Given the description of an element on the screen output the (x, y) to click on. 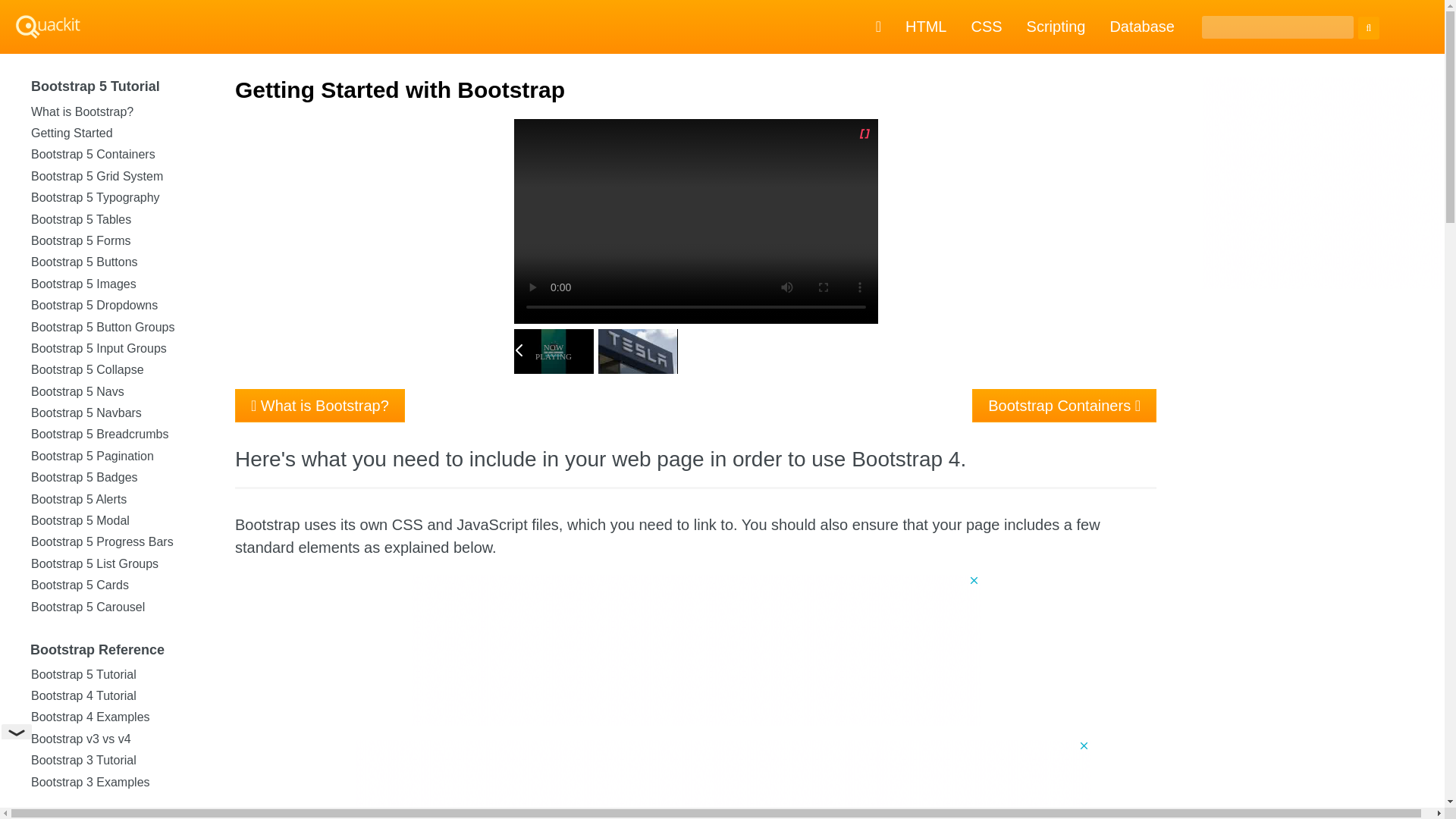
Scripting (1055, 27)
Bootstrap 5 Grid System (113, 176)
Bootstrap 5 Typography (113, 197)
Bootstrap 5 Collapse (113, 369)
Bootstrap 5 Forms (113, 240)
Bootstrap 5 Buttons (113, 261)
Bootstrap Containers (1064, 405)
Database (1141, 27)
Bootstrap 5 Tables (113, 219)
Bootstrap 5 Navbars (113, 413)
Bootstrap 5 Tutorial (117, 86)
Bootstrap 5 Breadcrumbs (113, 434)
What is Bootstrap? (113, 111)
3rd party ad content (722, 773)
